Given the description of an element on the screen output the (x, y) to click on. 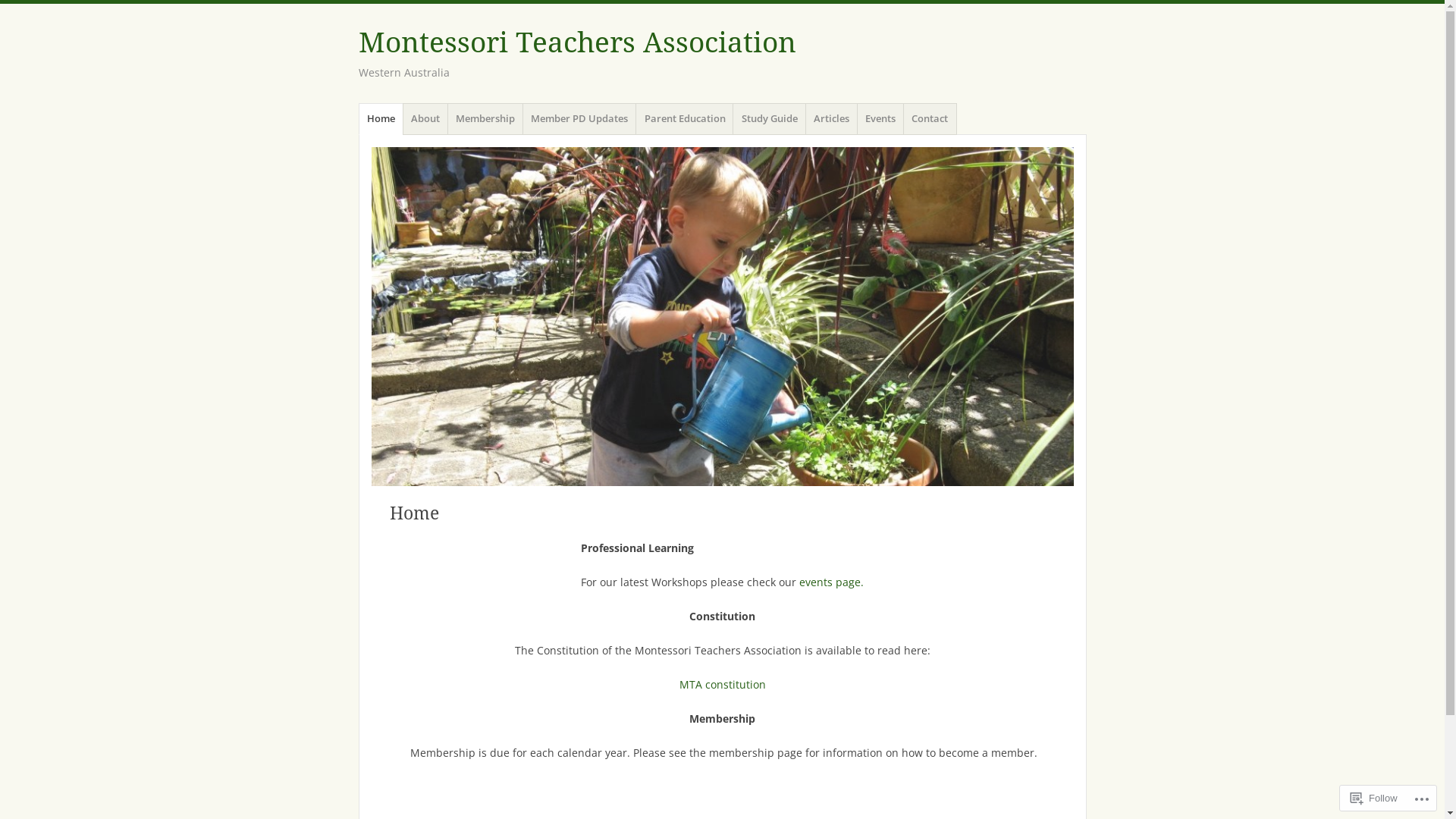
Study Guide Element type: text (769, 118)
Home Element type: text (380, 118)
Montessori Teachers Association Element type: text (576, 42)
Articles Element type: text (831, 118)
Member PD Updates Element type: text (579, 118)
Events Element type: text (880, 118)
Follow Element type: text (1373, 797)
Montessori Teachers Association Element type: hover (722, 316)
Parent Education Element type: text (684, 118)
About Element type: text (425, 118)
events page. Element type: text (831, 581)
Membership Element type: text (485, 118)
MTA constitution Element type: text (722, 684)
Contact Element type: text (930, 118)
